Given the description of an element on the screen output the (x, y) to click on. 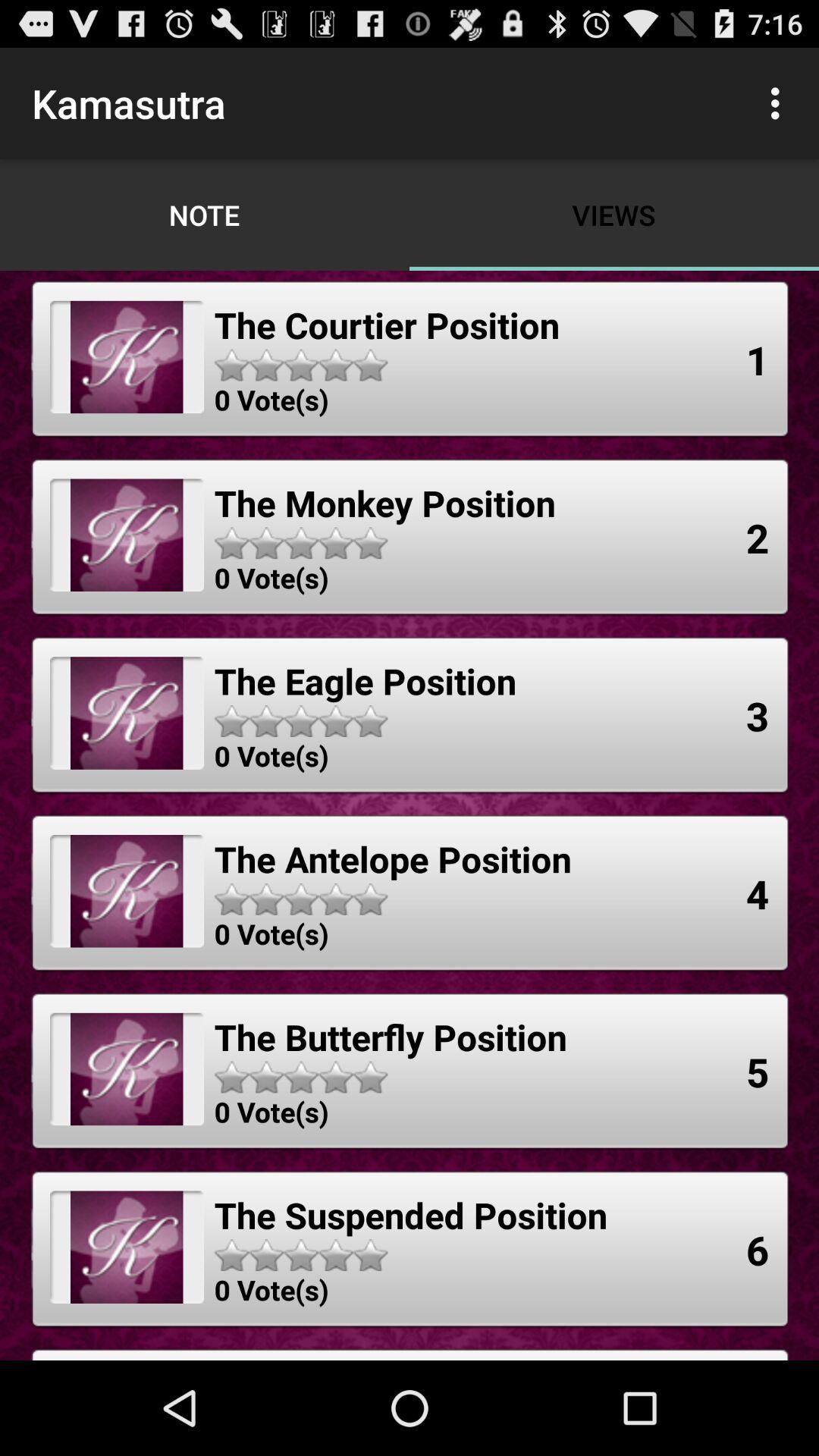
open item below the 0 vote(s) icon (392, 858)
